Given the description of an element on the screen output the (x, y) to click on. 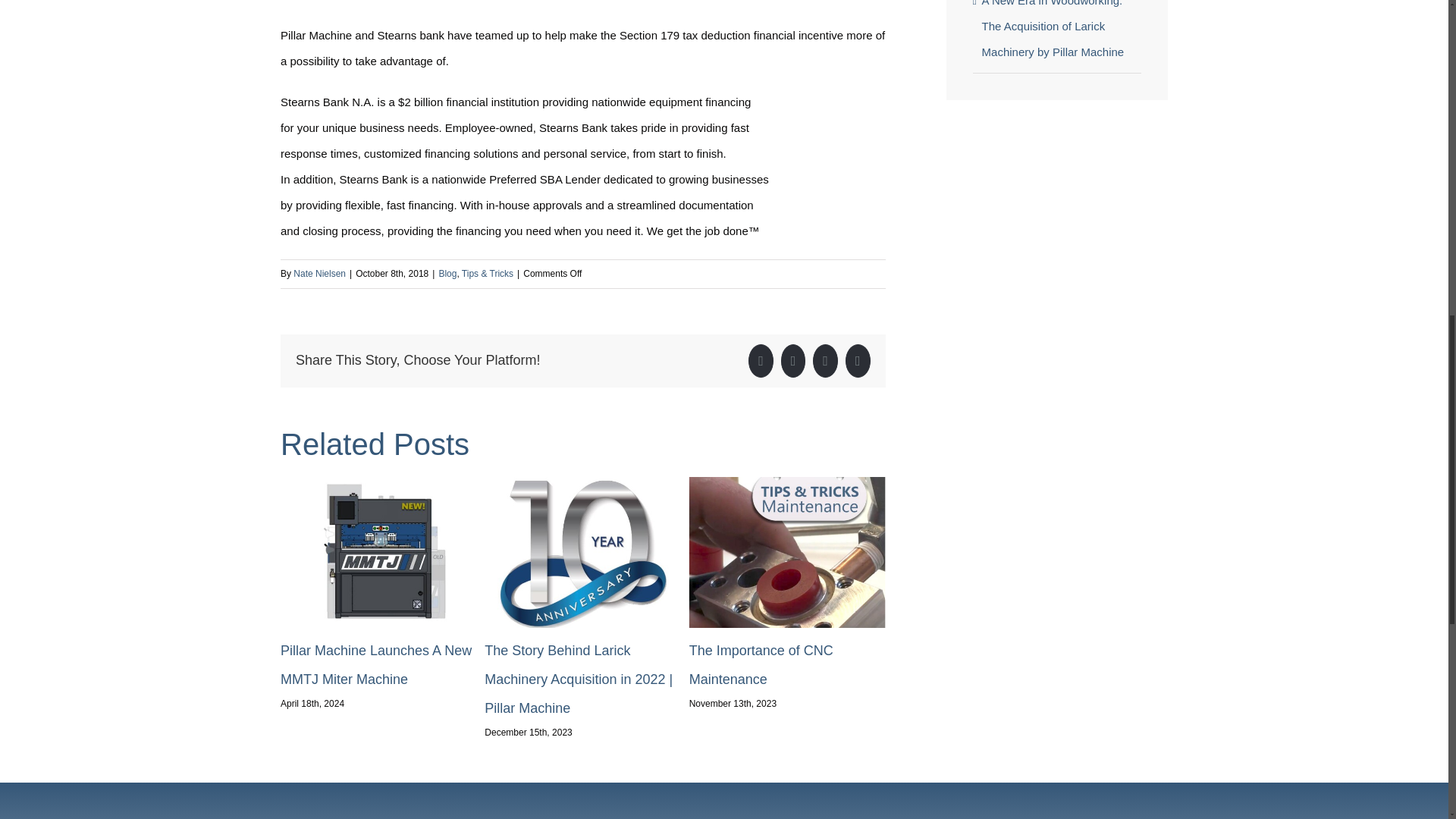
Posts by Nate Nielsen (320, 273)
Pillar Machine Launches A New MMTJ Miter Machine (376, 664)
